Given the description of an element on the screen output the (x, y) to click on. 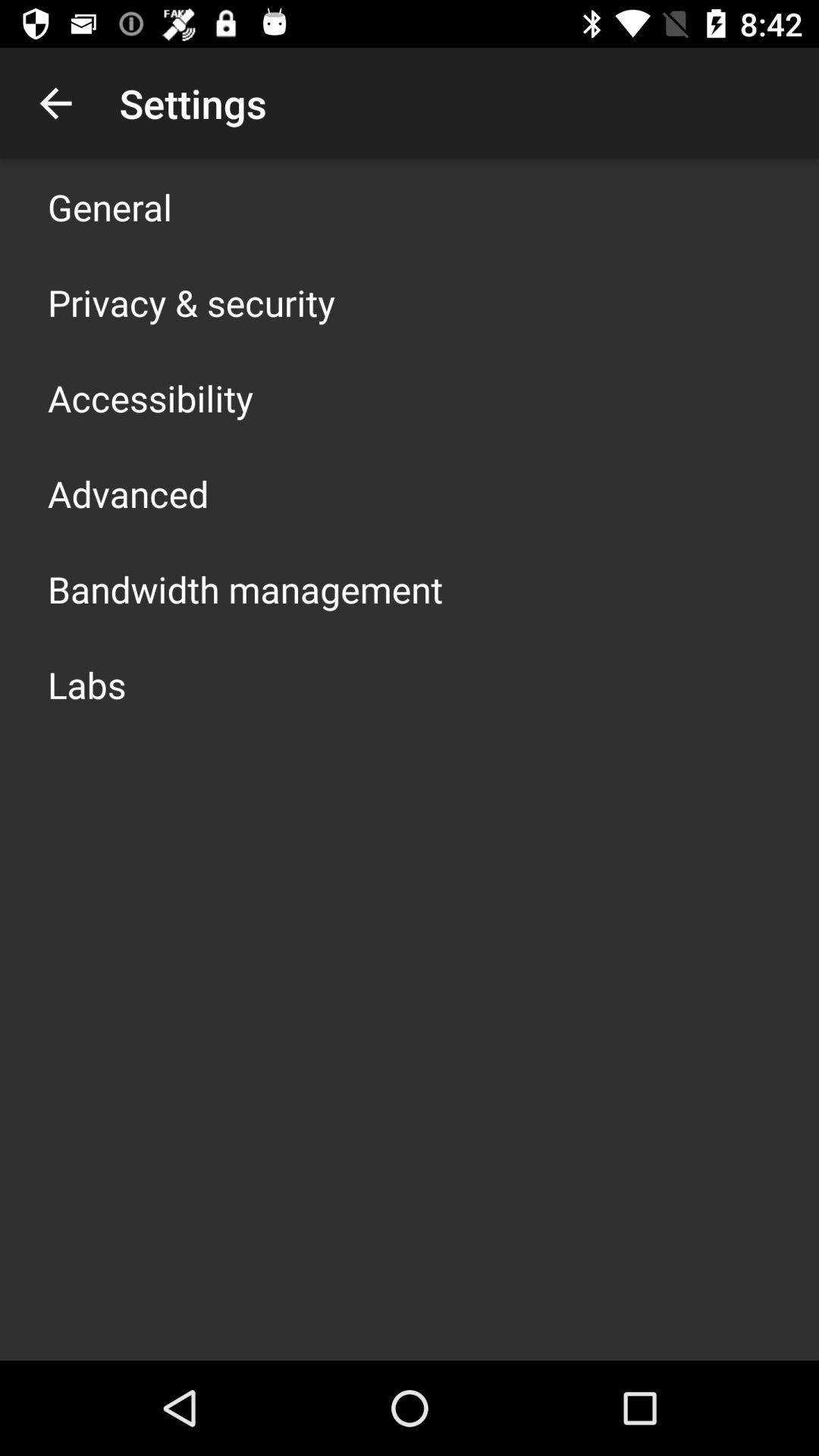
swipe until general icon (109, 206)
